Given the description of an element on the screen output the (x, y) to click on. 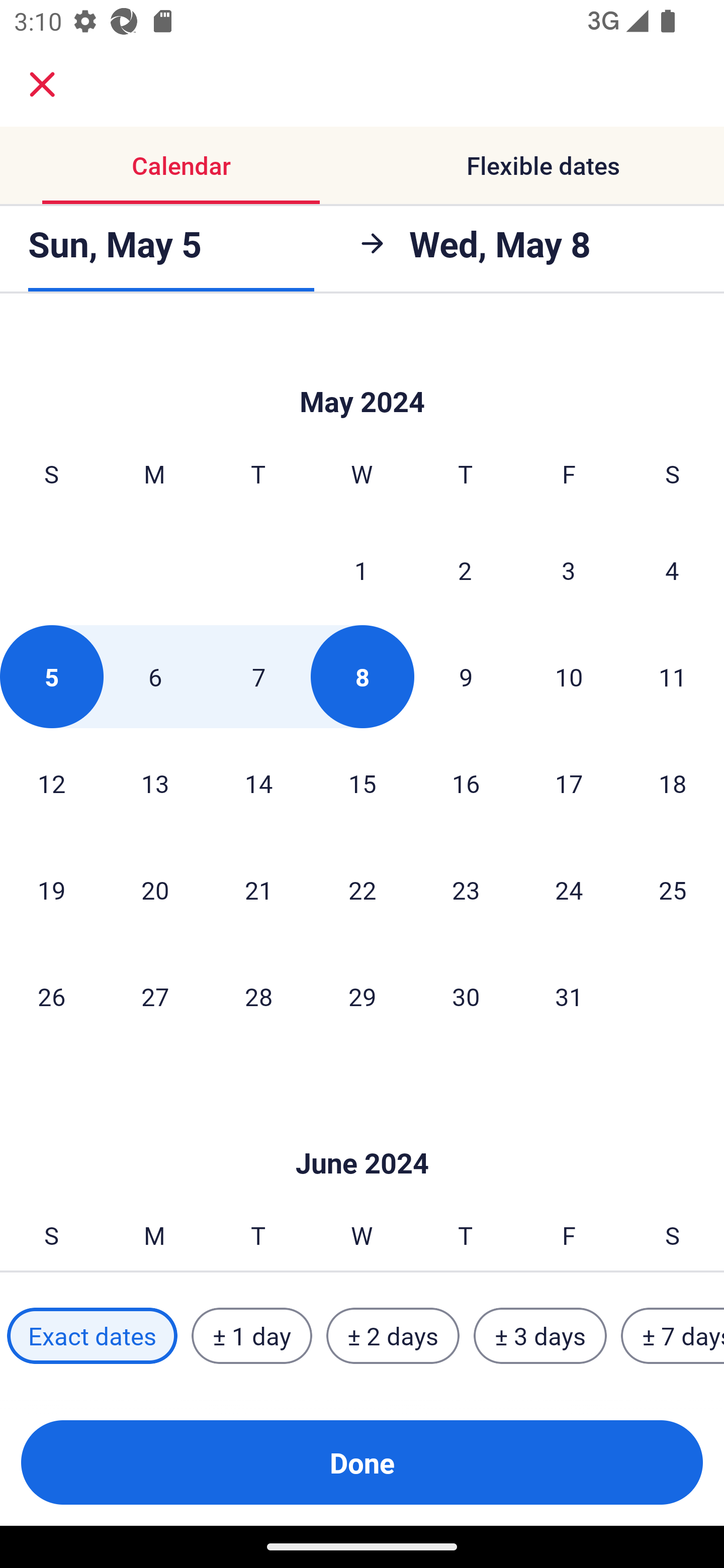
close. (42, 84)
Flexible dates (542, 164)
Skip to Done (362, 371)
1 Wednesday, May 1, 2024 (361, 569)
2 Thursday, May 2, 2024 (464, 569)
3 Friday, May 3, 2024 (568, 569)
4 Saturday, May 4, 2024 (672, 569)
9 Thursday, May 9, 2024 (465, 676)
10 Friday, May 10, 2024 (569, 676)
11 Saturday, May 11, 2024 (672, 676)
12 Sunday, May 12, 2024 (51, 783)
13 Monday, May 13, 2024 (155, 783)
14 Tuesday, May 14, 2024 (258, 783)
15 Wednesday, May 15, 2024 (362, 783)
16 Thursday, May 16, 2024 (465, 783)
17 Friday, May 17, 2024 (569, 783)
18 Saturday, May 18, 2024 (672, 783)
19 Sunday, May 19, 2024 (51, 889)
20 Monday, May 20, 2024 (155, 889)
21 Tuesday, May 21, 2024 (258, 889)
22 Wednesday, May 22, 2024 (362, 889)
23 Thursday, May 23, 2024 (465, 889)
24 Friday, May 24, 2024 (569, 889)
25 Saturday, May 25, 2024 (672, 889)
26 Sunday, May 26, 2024 (51, 996)
27 Monday, May 27, 2024 (155, 996)
28 Tuesday, May 28, 2024 (258, 996)
29 Wednesday, May 29, 2024 (362, 996)
30 Thursday, May 30, 2024 (465, 996)
31 Friday, May 31, 2024 (569, 996)
Skip to Done (362, 1133)
Exact dates (92, 1335)
± 1 day (251, 1335)
± 2 days (392, 1335)
± 3 days (539, 1335)
± 7 days (672, 1335)
Done (361, 1462)
